Given the description of an element on the screen output the (x, y) to click on. 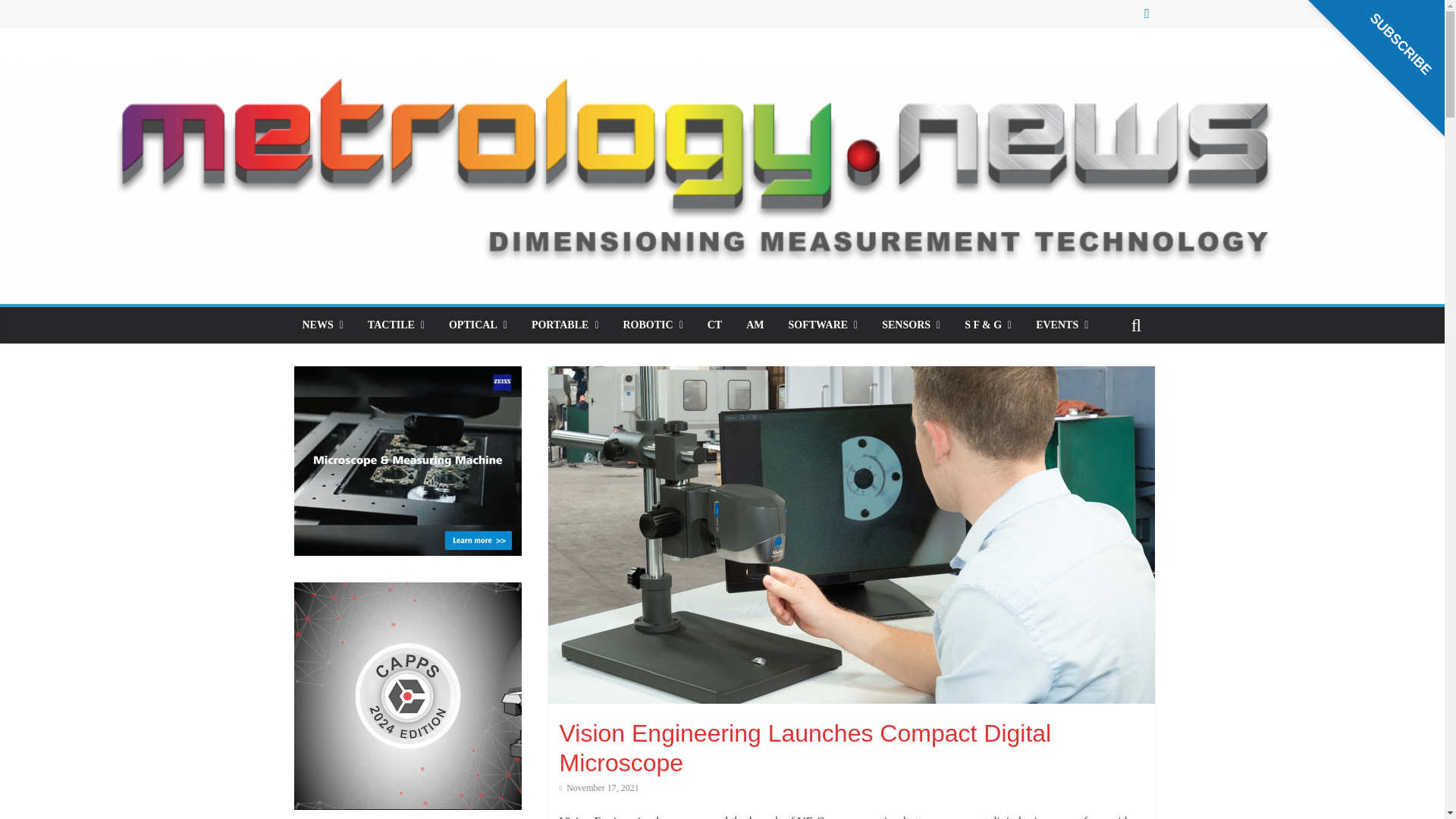
7:00 am (599, 787)
OPTICAL (477, 325)
ROBOTIC (653, 325)
NEWS (322, 325)
CT (714, 325)
AM (754, 325)
PORTABLE (565, 325)
TACTILE (395, 325)
